Given the description of an element on the screen output the (x, y) to click on. 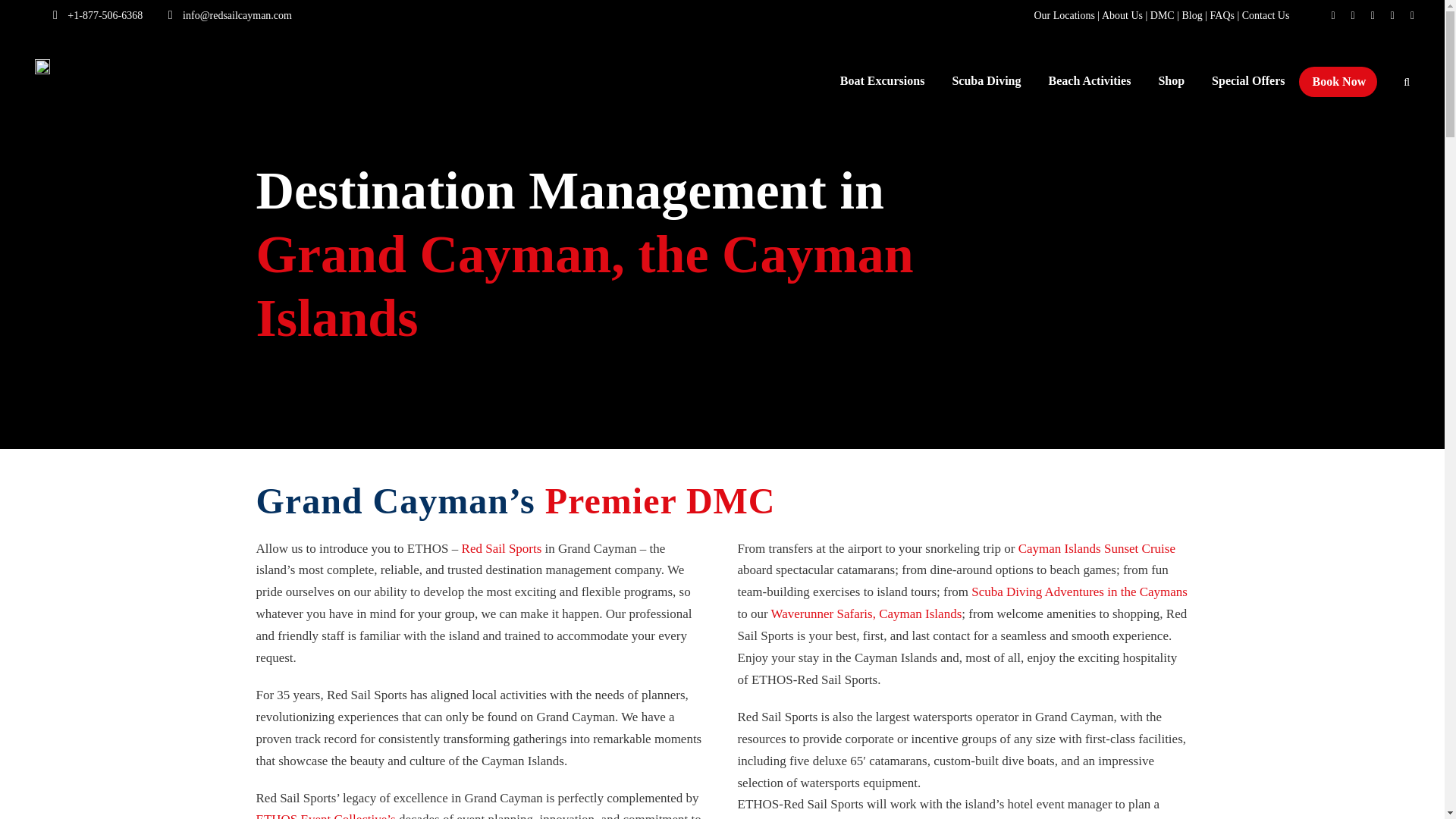
Blog (1191, 15)
Contact Us (1265, 15)
LOGO WHITE-RED (41, 66)
FAQs (1221, 15)
Boat Excursions (882, 88)
About Us (1122, 15)
Our Locations (1063, 15)
DMC (1162, 15)
